Given the description of an element on the screen output the (x, y) to click on. 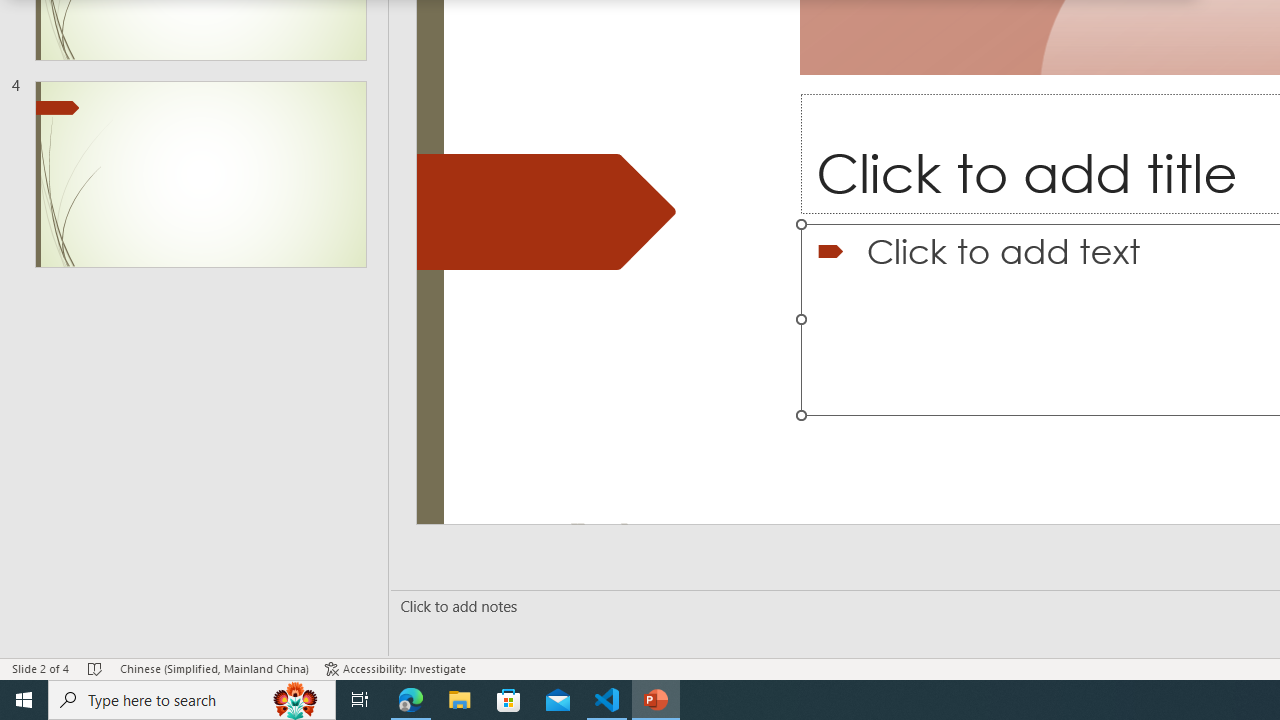
Microsoft Edge - 1 running window (411, 699)
Accessibility Checker Accessibility: Investigate (395, 668)
Start (24, 699)
PowerPoint - 1 running window (656, 699)
Type here to search (191, 699)
Task View (359, 699)
Visual Studio Code - 1 running window (607, 699)
File Explorer (460, 699)
Microsoft Store (509, 699)
Decorative Locked (546, 212)
Search highlights icon opens search home window (295, 699)
